Given the description of an element on the screen output the (x, y) to click on. 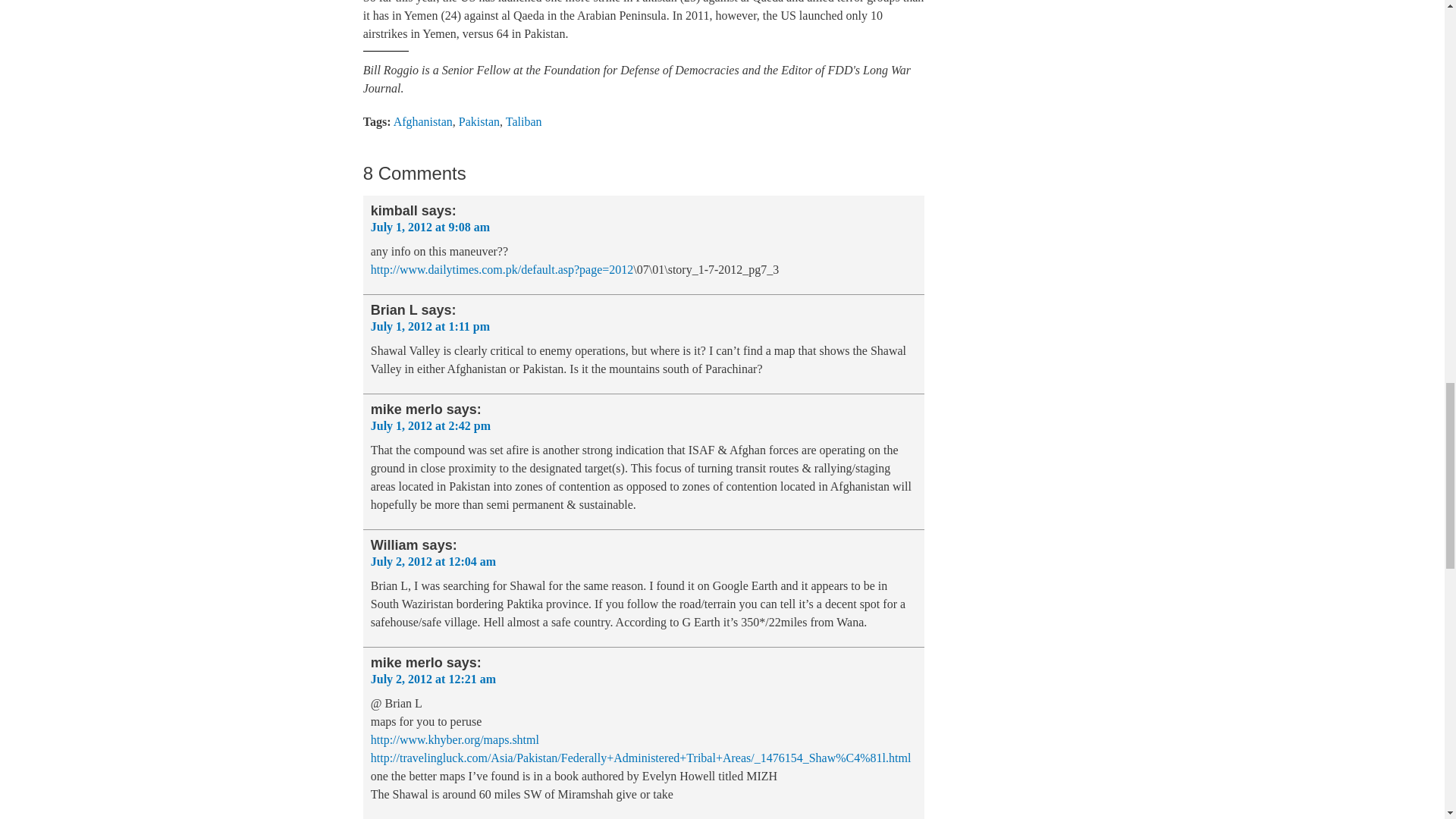
Taliban (523, 121)
July 1, 2012 at 2:42 pm (430, 425)
July 1, 2012 at 1:11 pm (430, 326)
July 2, 2012 at 12:04 am (433, 561)
Pakistan (478, 121)
Afghanistan (422, 121)
July 2, 2012 at 12:21 am (433, 678)
July 1, 2012 at 9:08 am (430, 226)
